Given the description of an element on the screen output the (x, y) to click on. 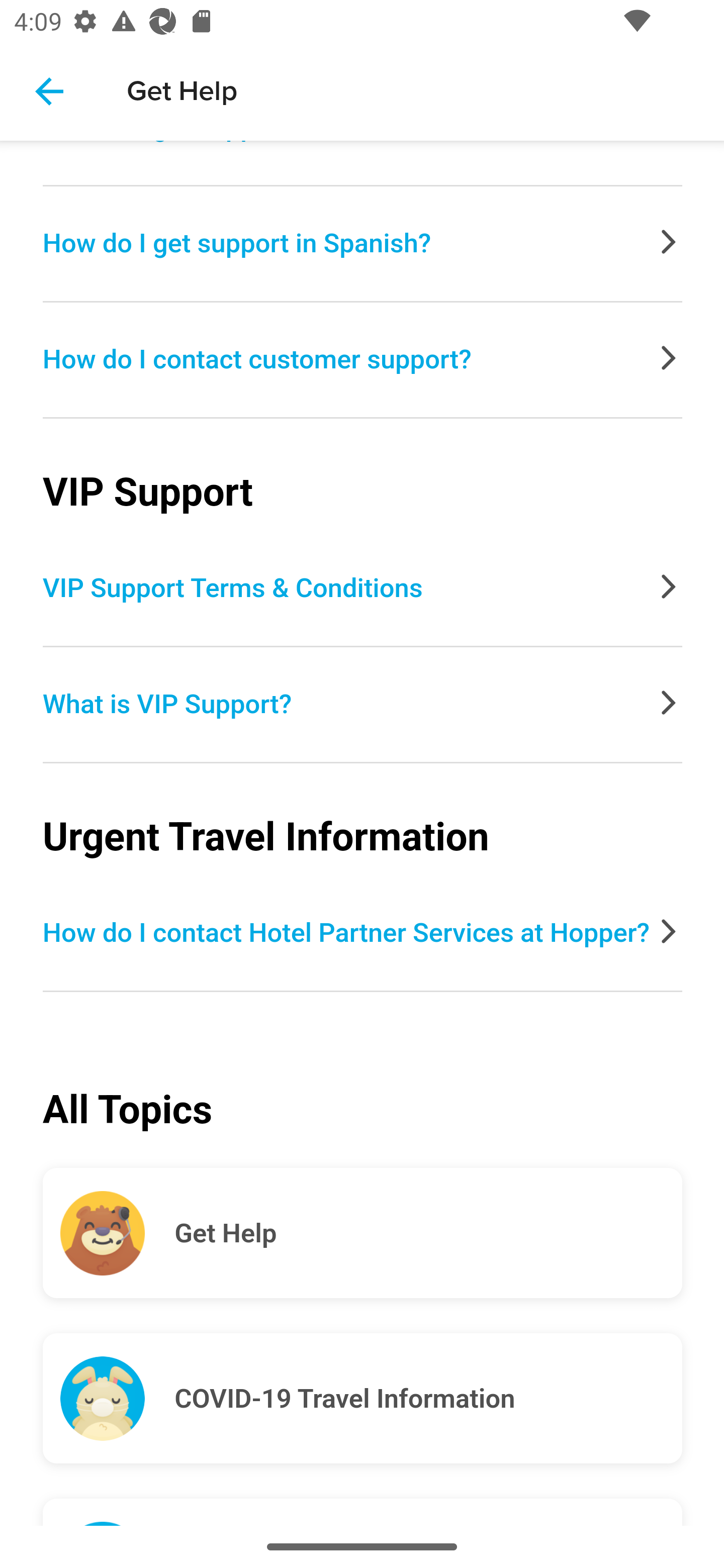
Navigate up (49, 91)
How do I get support in Spanish? (362, 245)
How do I contact customer support? (362, 361)
VIP Support Terms & Conditions (362, 590)
What is VIP Support? (362, 706)
How do I contact Hotel Partner Services at Hopper? (362, 935)
Get Help (428, 1234)
COVID-19 Travel Information (428, 1399)
